Given the description of an element on the screen output the (x, y) to click on. 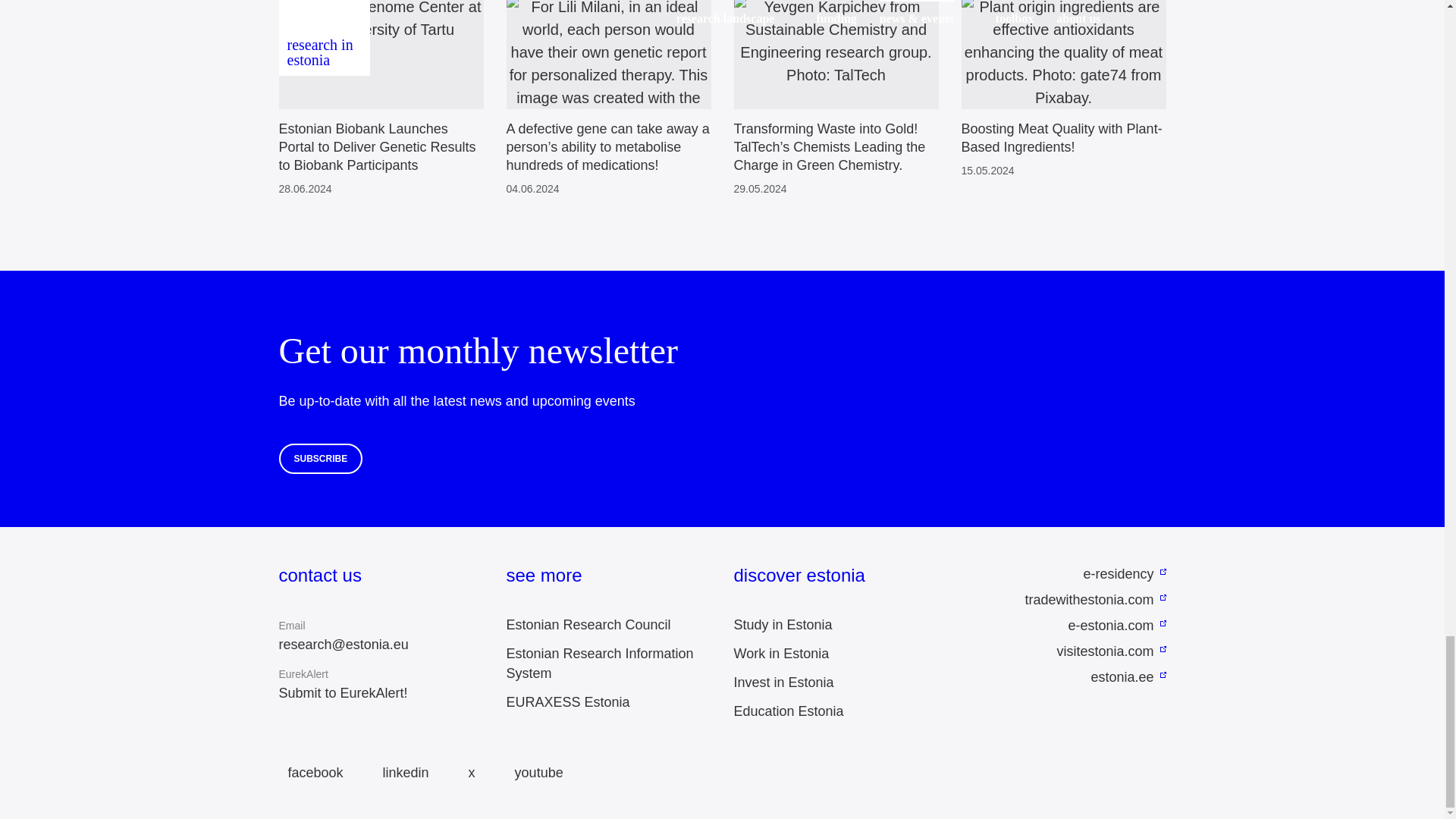
EURAXESS Estonia (568, 702)
LinkedIn (401, 772)
Youtube (534, 772)
SUBSCRIBE (320, 458)
Work in Estonia (781, 653)
x (468, 772)
Estonian Research Information System (600, 663)
Submit to EurekAlert! (343, 693)
